Given the description of an element on the screen output the (x, y) to click on. 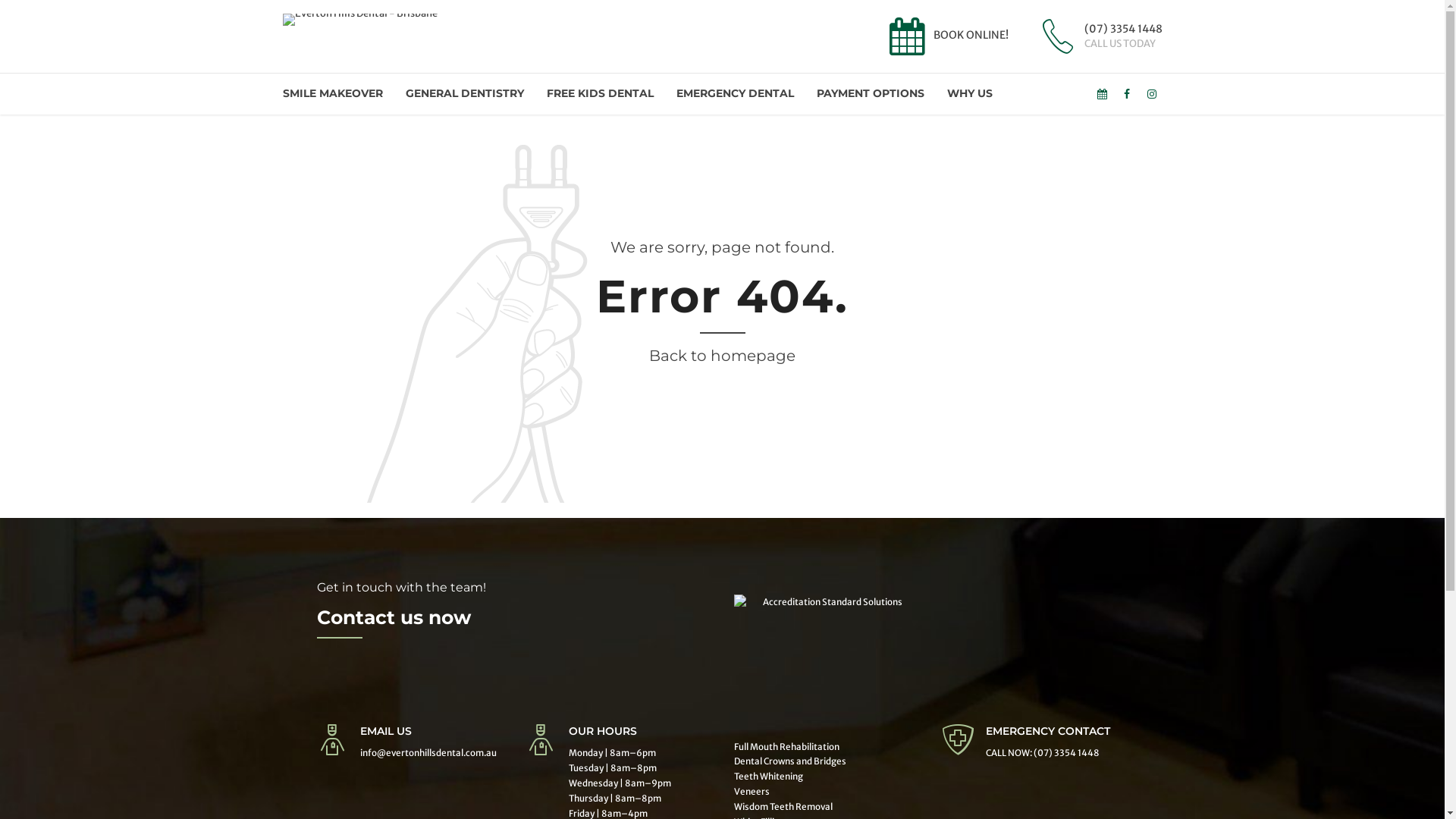
BOOK ONLINE! Element type: text (946, 36)
(07) 3354 1448
CALL US TODAY Element type: text (1098, 36)
Back to homepage Element type: text (722, 355)
GENERAL DENTISTRY Element type: text (463, 93)
SMILE MAKEOVER Element type: text (332, 93)
FREE KIDS DENTAL Element type: text (599, 93)
WHY US Element type: text (968, 93)
PAYMENT OPTIONS Element type: text (869, 93)
EMERGENCY DENTAL Element type: text (734, 93)
